Given the description of an element on the screen output the (x, y) to click on. 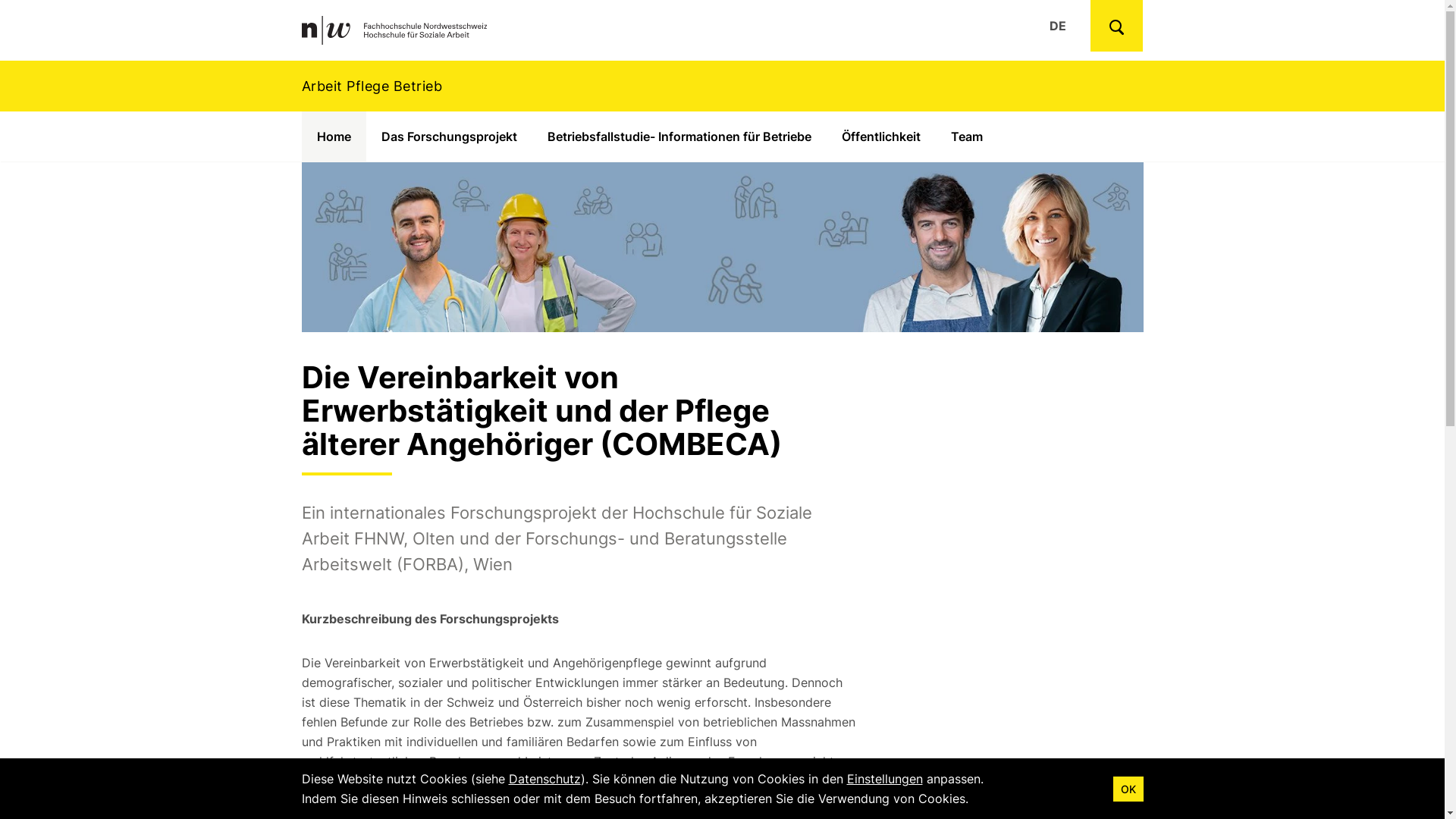
Das Forschungsprojekt Element type: text (448, 136)
Einstellungen Element type: text (884, 778)
Team Element type: text (966, 136)
Home Element type: text (333, 136)
Suchen Element type: text (1116, 25)
Arbeit Pflege Betrieb Element type: text (722, 86)
DE Element type: text (1057, 25)
OK Element type: text (1128, 788)
Datenschutz Element type: text (544, 778)
